Given the description of an element on the screen output the (x, y) to click on. 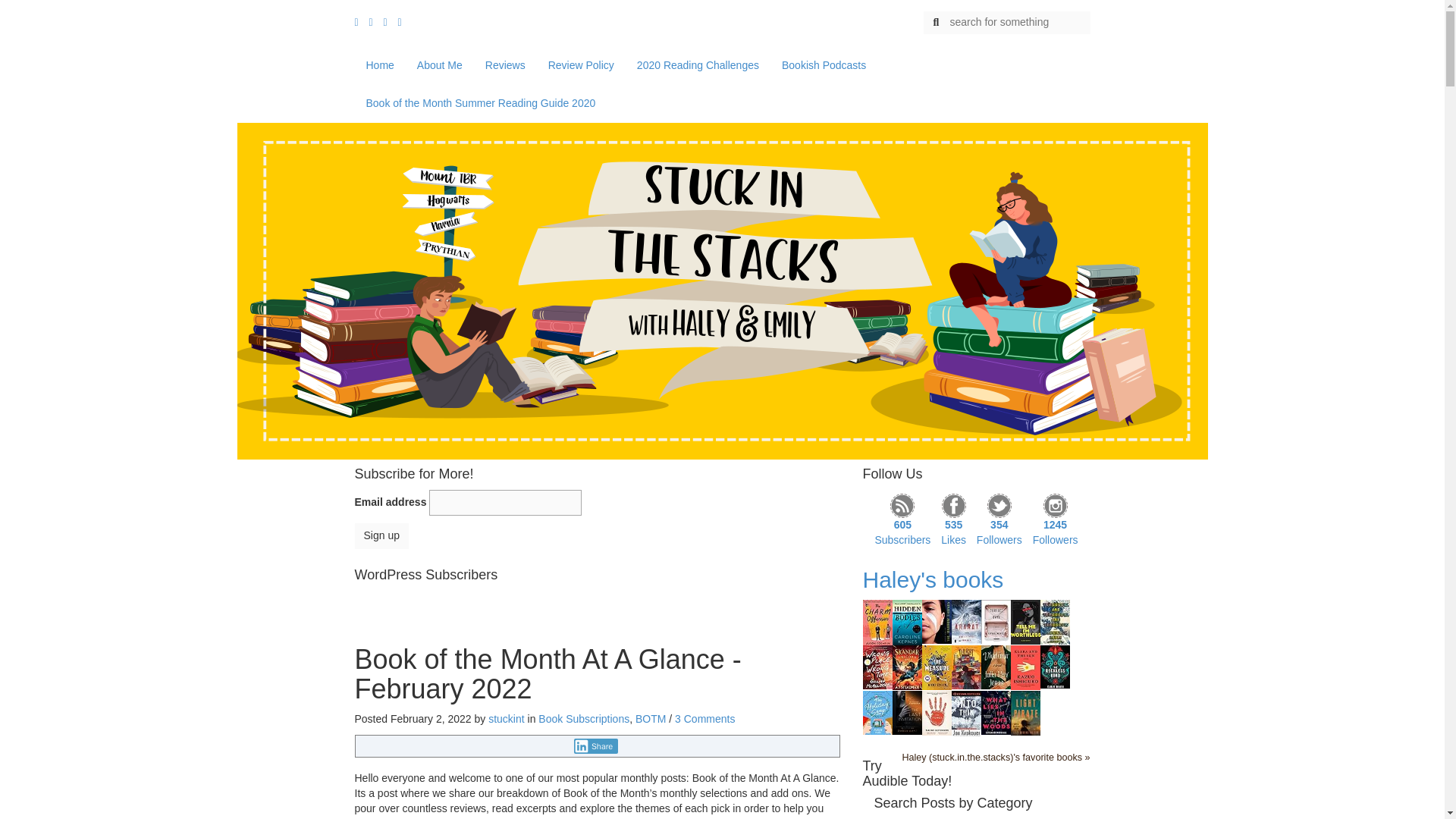
3 Comments (705, 718)
About Me (440, 64)
Reviews (505, 64)
Wrong Place Wrong Time (877, 666)
Follow Button (597, 598)
BOTM (649, 718)
View all posts in Book Subscriptions (583, 718)
The Measure (936, 666)
Tomorrow, and Tomorrow, and Tomorrow (1055, 621)
Book of the Month Summer Reading Guide 2020 (481, 103)
Klara and the Sun (1024, 666)
Review Policy (581, 64)
The Marrow Thieves (936, 621)
Perfect Days (995, 621)
View all posts in BOTM (649, 718)
